Given the description of an element on the screen output the (x, y) to click on. 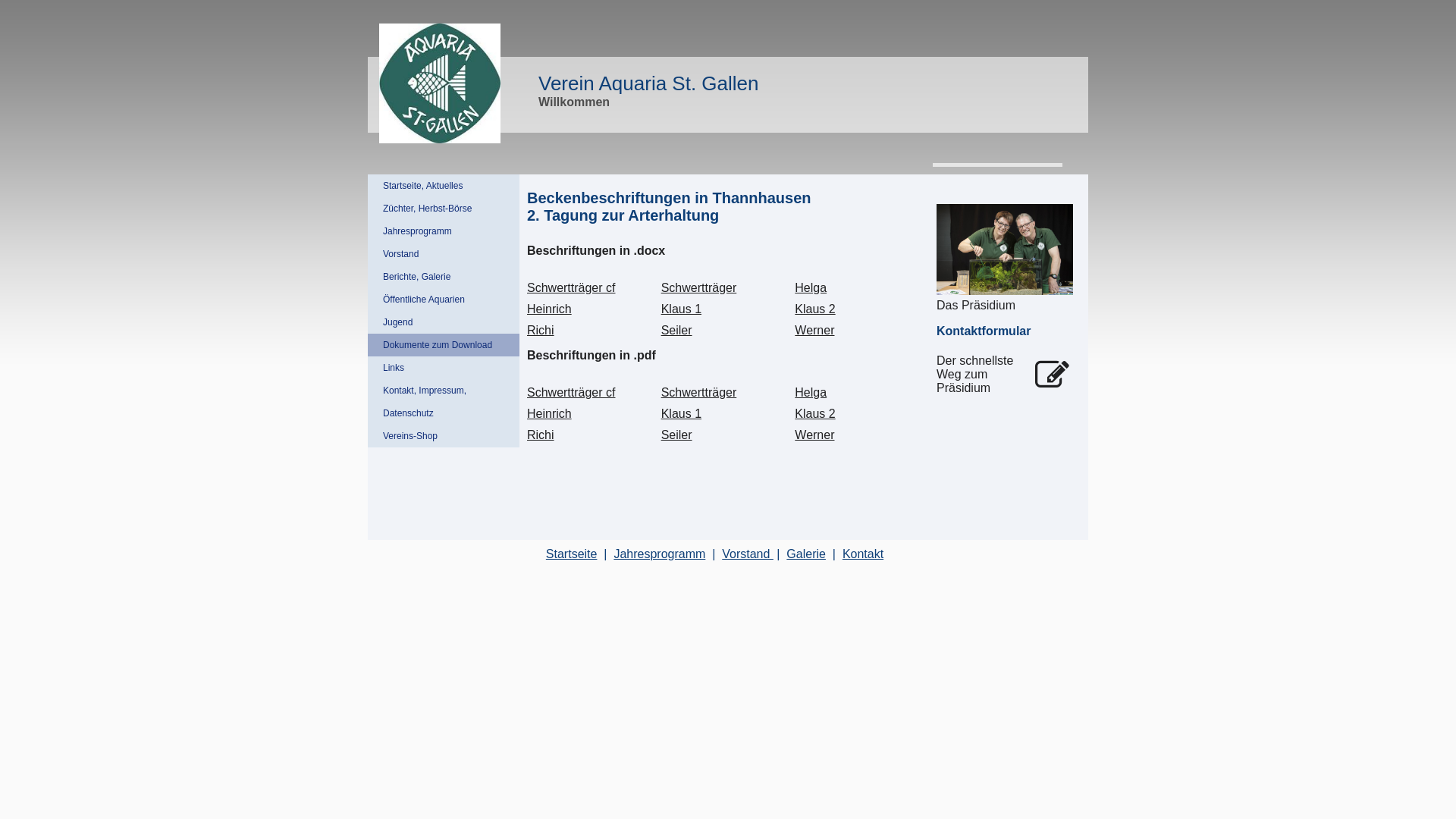
Seiler Element type: text (676, 329)
Heinrich Element type: text (549, 308)
Kontakt Element type: text (862, 553)
Helga Element type: text (810, 287)
Startseite Element type: text (571, 553)
Vereins-Shop Element type: text (443, 435)
Dokumente zum Download Element type: text (443, 344)
Heinrich Element type: text (549, 413)
Klaus 1 Element type: text (681, 308)
Berichte, Galerie Element type: text (443, 276)
Klaus 1 Element type: text (681, 413)
Jahresprogramm Element type: text (659, 553)
Jahresprogramm Element type: text (443, 230)
Werner Element type: text (814, 434)
Klaus 2 Element type: text (814, 308)
Galerie Element type: text (805, 553)
Vorstand Element type: text (443, 253)
Kontakt, Impressum, Datenschutz Element type: text (443, 401)
Richi Element type: text (540, 434)
Werner Element type: text (814, 329)
Jugend Element type: text (443, 321)
Links Element type: text (443, 367)
Richi Element type: text (540, 329)
Startseite, Aktuelles Element type: text (443, 185)
Klaus 2 Element type: text (814, 413)
Helga Element type: text (810, 391)
Vorstand  Element type: text (747, 553)
Seiler Element type: text (676, 434)
